Given the description of an element on the screen output the (x, y) to click on. 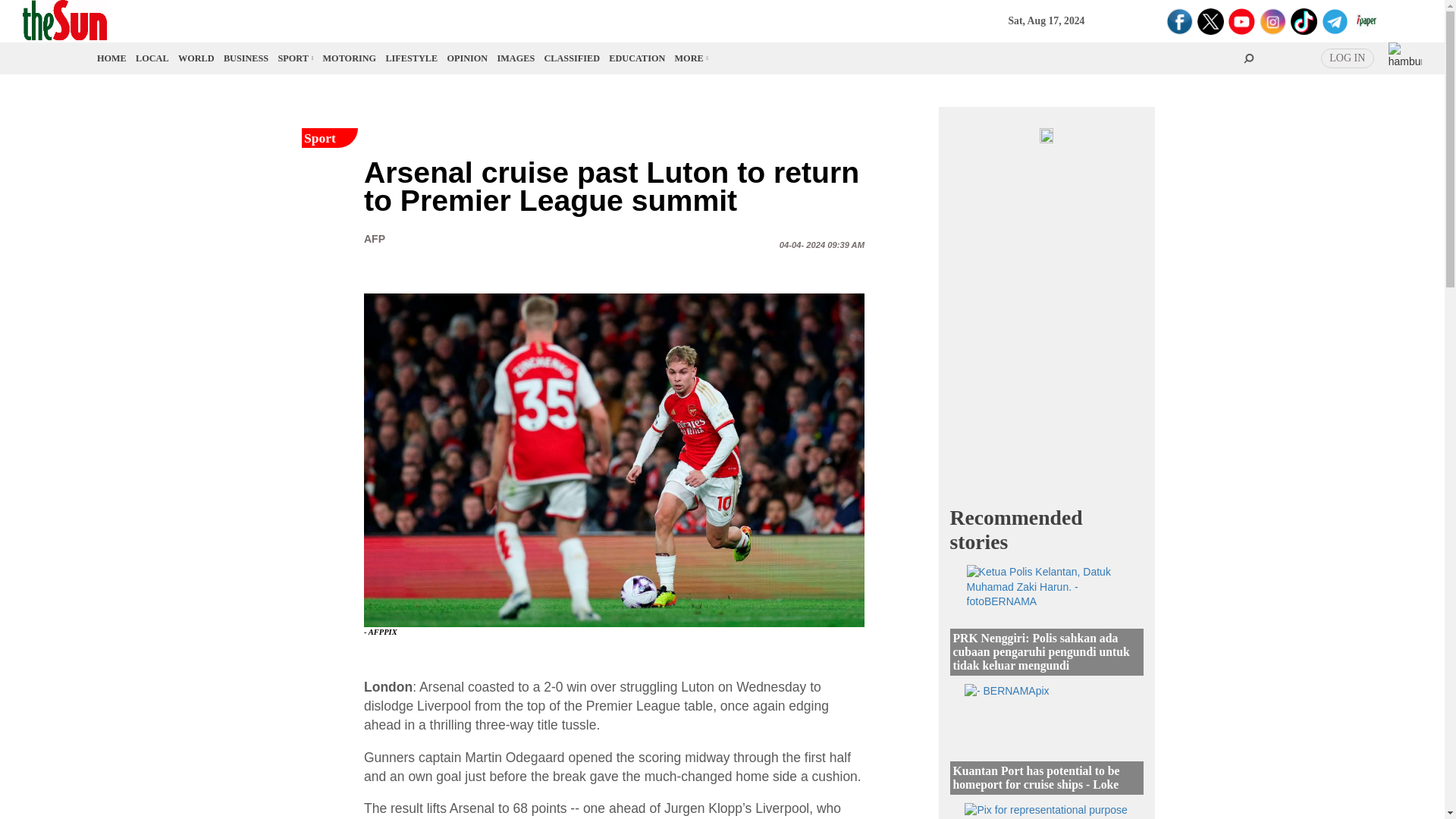
EDUCATION (636, 57)
LIFESTYLE (411, 57)
OPINION (466, 57)
IMAGES (516, 57)
LOG IN (1347, 57)
Home (111, 57)
HOME (111, 57)
BUSINESS (245, 57)
MOTORING (350, 57)
MORE (690, 57)
